Given the description of an element on the screen output the (x, y) to click on. 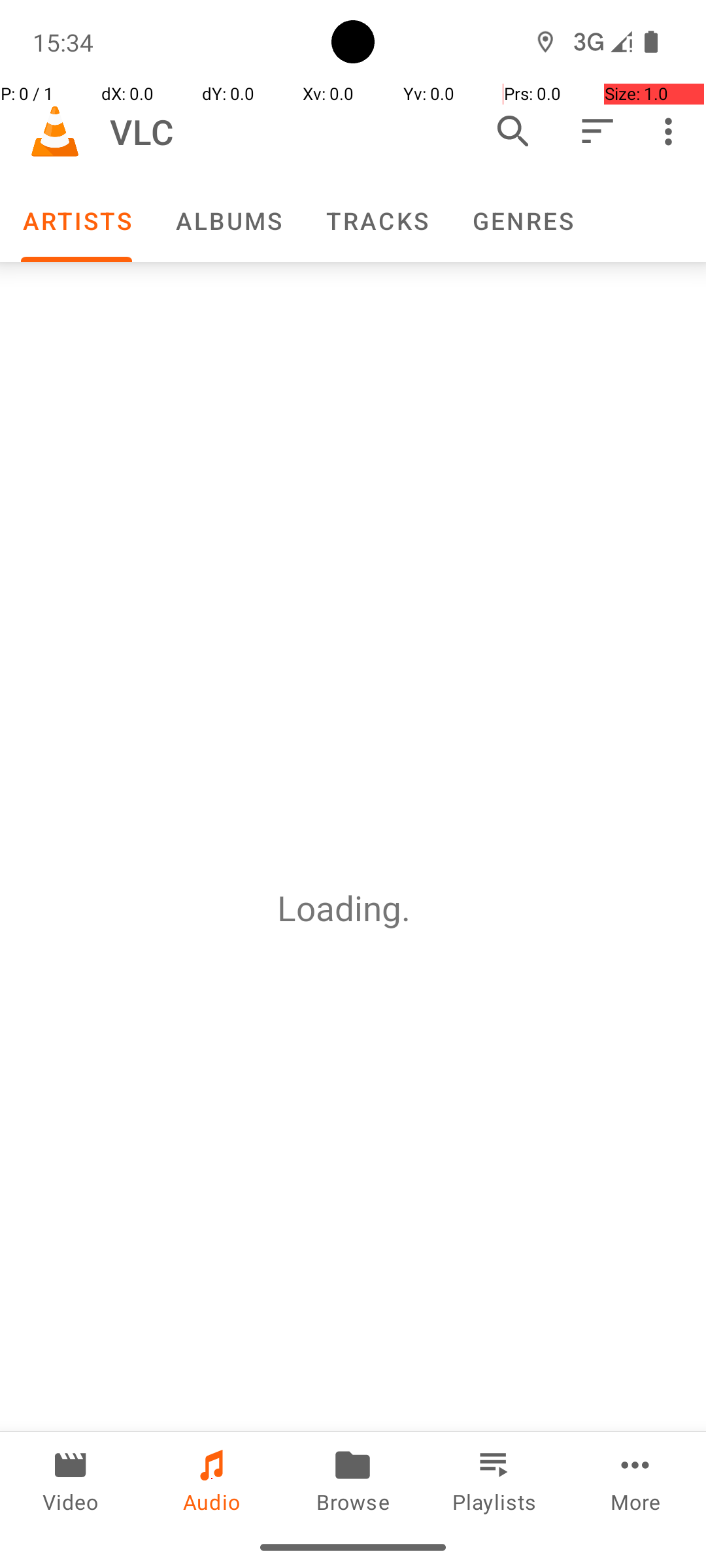
Sort by… Element type: android.widget.TextView (595, 131)
Loading Element type: android.widget.TextView (339, 907)
Tracks Element type: android.widget.LinearLayout (376, 220)
Genres Element type: android.widget.LinearLayout (521, 220)
Video Element type: android.widget.FrameLayout (70, 1478)
Browse Element type: android.widget.FrameLayout (352, 1478)
ARTISTS Element type: android.widget.TextView (76, 220)
ALBUMS Element type: android.widget.TextView (227, 220)
TRACKS Element type: android.widget.TextView (376, 220)
GENRES Element type: android.widget.TextView (521, 220)
